Given the description of an element on the screen output the (x, y) to click on. 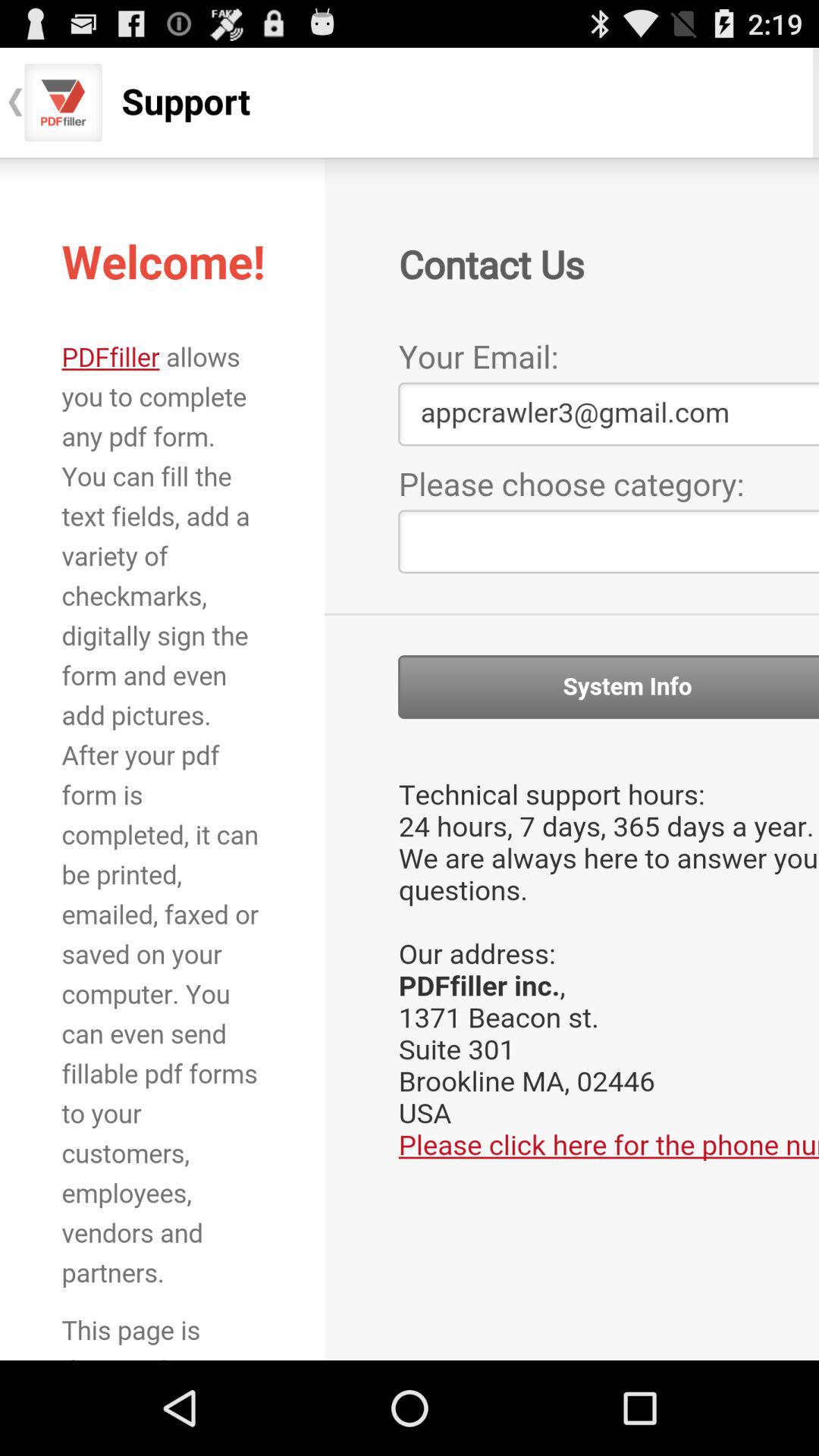
form page (409, 758)
